Given the description of an element on the screen output the (x, y) to click on. 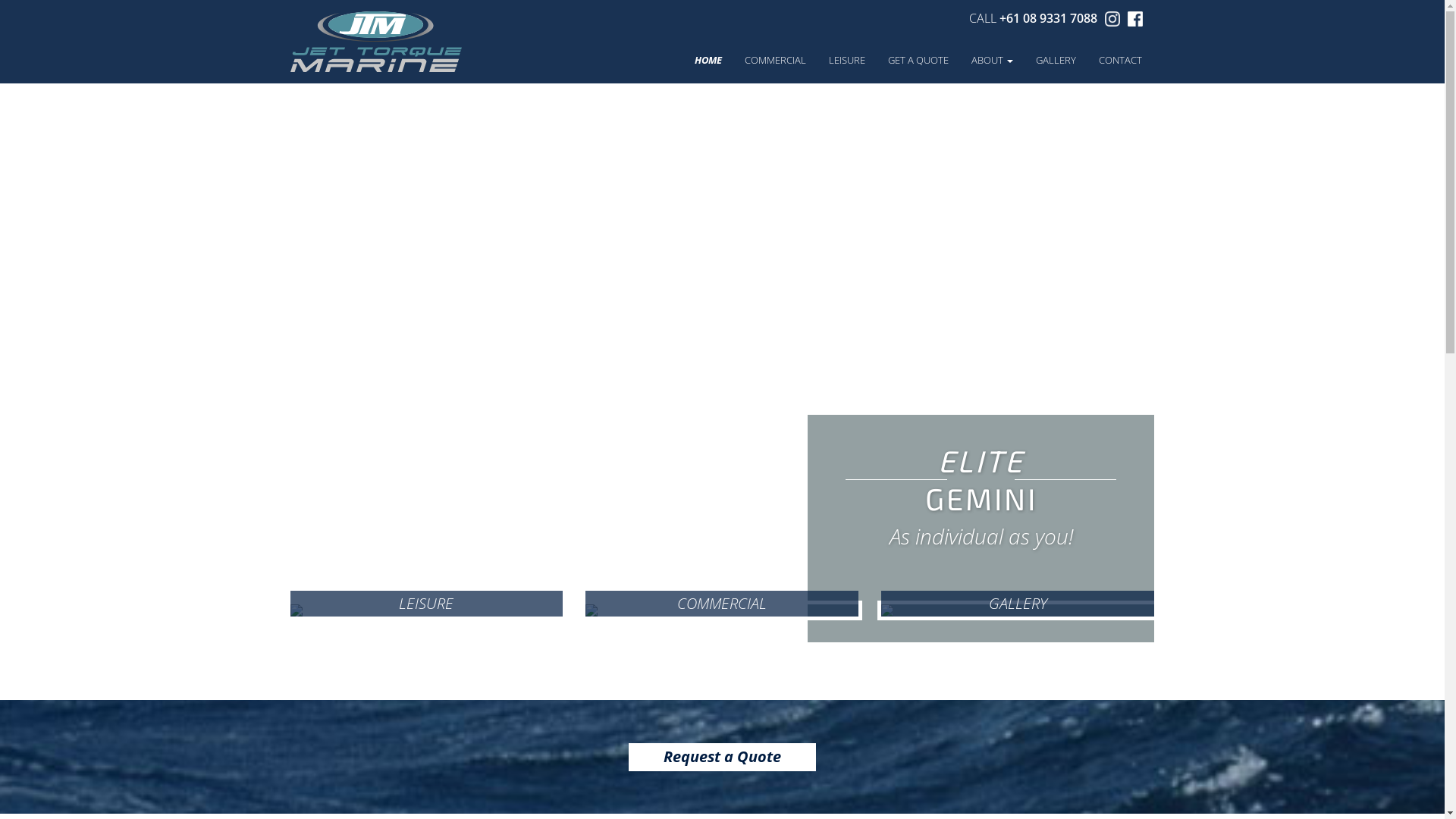
GET A QUOTE Element type: text (918, 67)
Request a Quote Element type: text (721, 757)
ABOUT Element type: text (992, 67)
GALLERY Element type: text (1055, 67)
LEISURE Element type: text (426, 610)
HOME Element type: text (708, 67)
COMMERCIAL Element type: text (775, 67)
COMMERCIAL Element type: text (721, 610)
CONTACT Element type: text (1120, 67)
LEISURE Element type: text (846, 67)
GALLERY Element type: text (1017, 610)
